Given the description of an element on the screen output the (x, y) to click on. 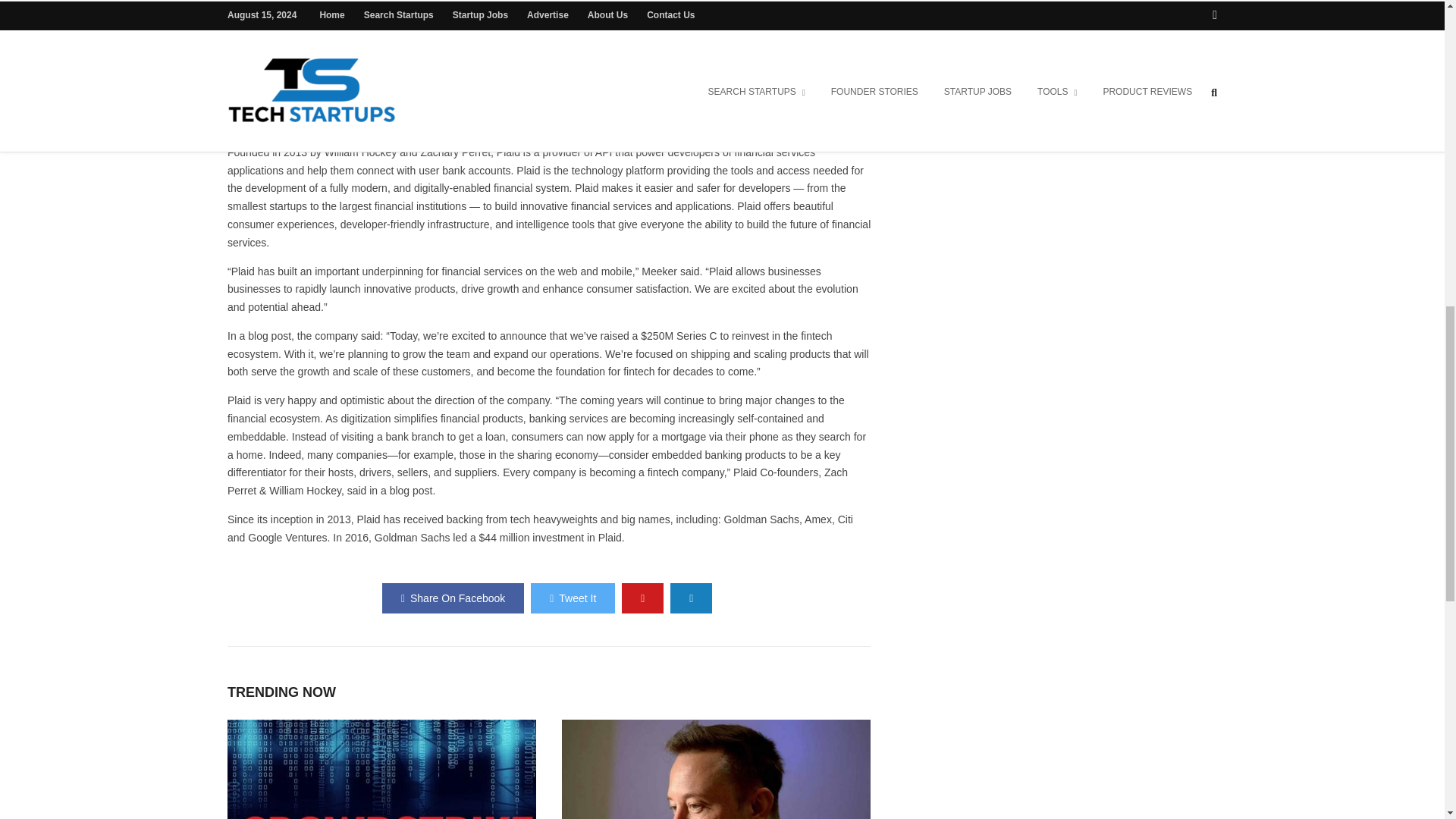
Share On Pinterest (642, 598)
Share by Email (690, 598)
Share On Twitter (572, 598)
Share On Facebook (452, 598)
